Given the description of an element on the screen output the (x, y) to click on. 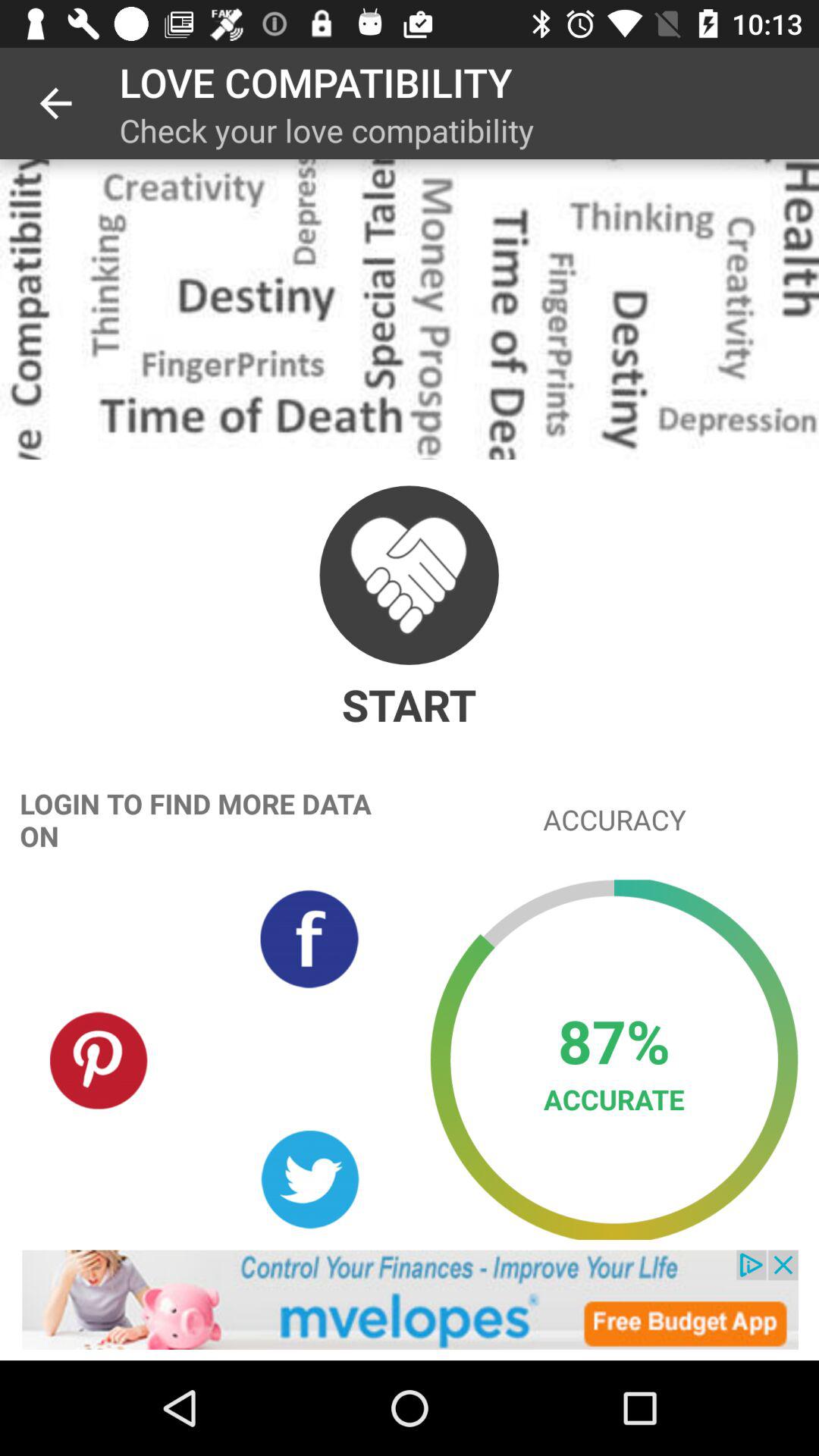
go to facebook (309, 939)
